Given the description of an element on the screen output the (x, y) to click on. 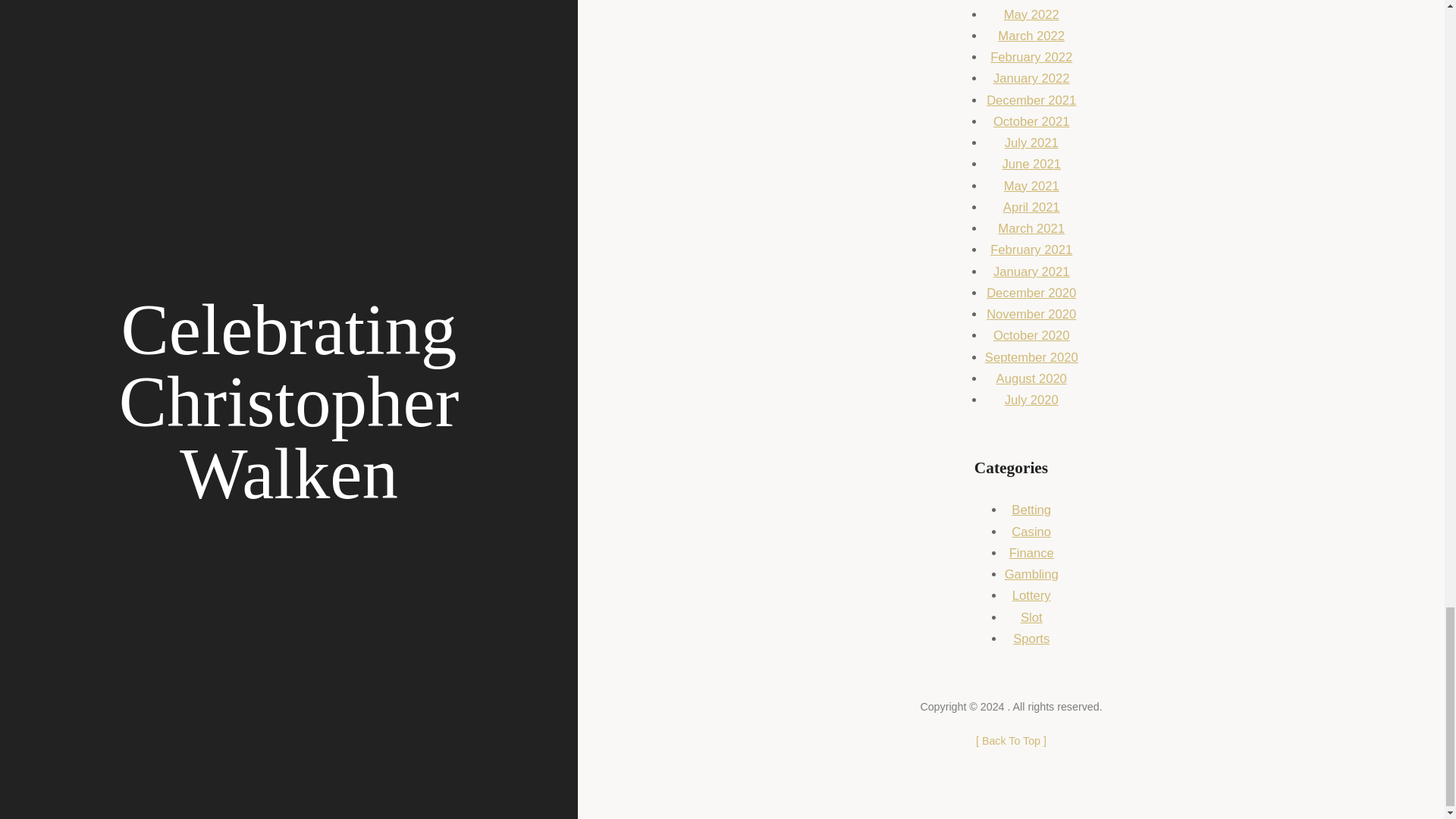
October 2021 (1031, 121)
May 2022 (1031, 14)
December 2021 (1031, 100)
February 2022 (1030, 56)
March 2022 (1030, 35)
January 2022 (1031, 78)
Back To Top (1010, 740)
